Given the description of an element on the screen output the (x, y) to click on. 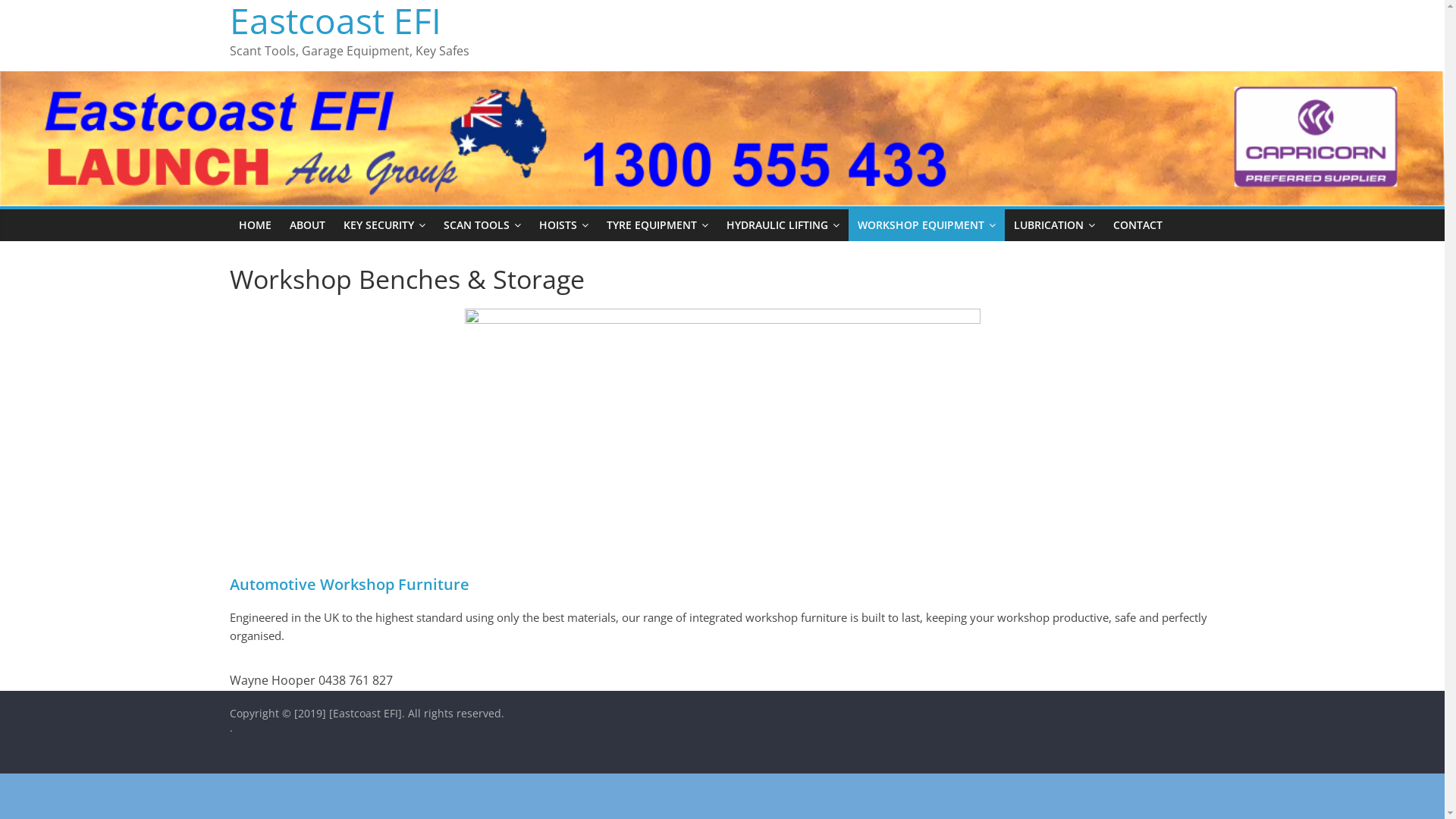
KEY SECURITY Element type: text (383, 225)
CONTACT Element type: text (1137, 225)
HOISTS Element type: text (562, 225)
LUBRICATION Element type: text (1053, 225)
Automotive Workshop Furniture Element type: text (348, 584)
HOME Element type: text (254, 225)
SCAN TOOLS Element type: text (481, 225)
HYDRAULIC LIFTING Element type: text (782, 225)
ABOUT Element type: text (307, 225)
WORKSHOP EQUIPMENT Element type: text (925, 225)
TYRE EQUIPMENT Element type: text (657, 225)
